Given the description of an element on the screen output the (x, y) to click on. 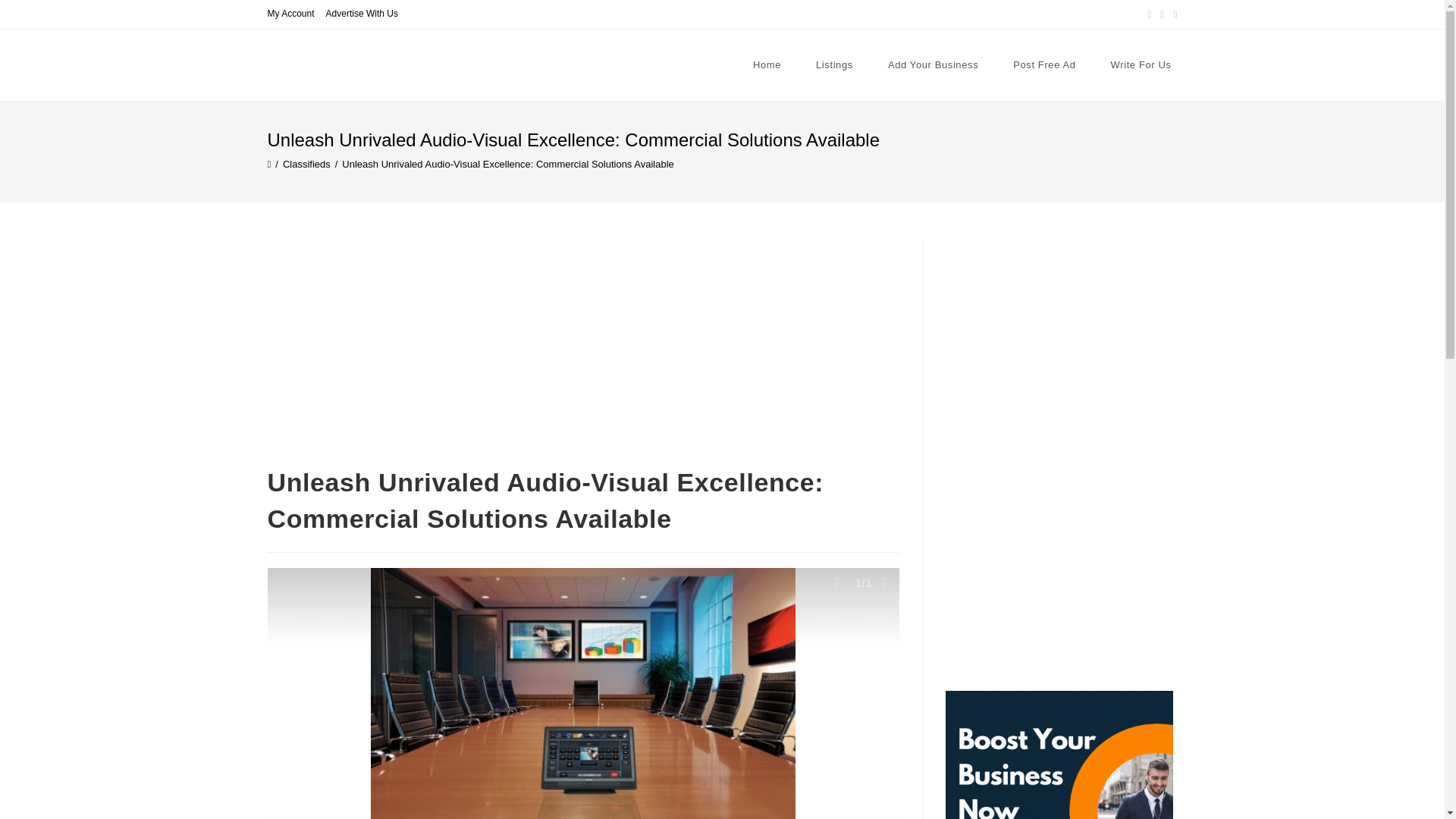
Listings (833, 64)
Advertisement (582, 352)
Total Files (884, 581)
My Account (290, 13)
Advertisement (1060, 575)
Post Free Ad (1044, 64)
Advertise With Us (361, 13)
Classifieds (306, 163)
Show Thumbnails ... (836, 581)
